Given the description of an element on the screen output the (x, y) to click on. 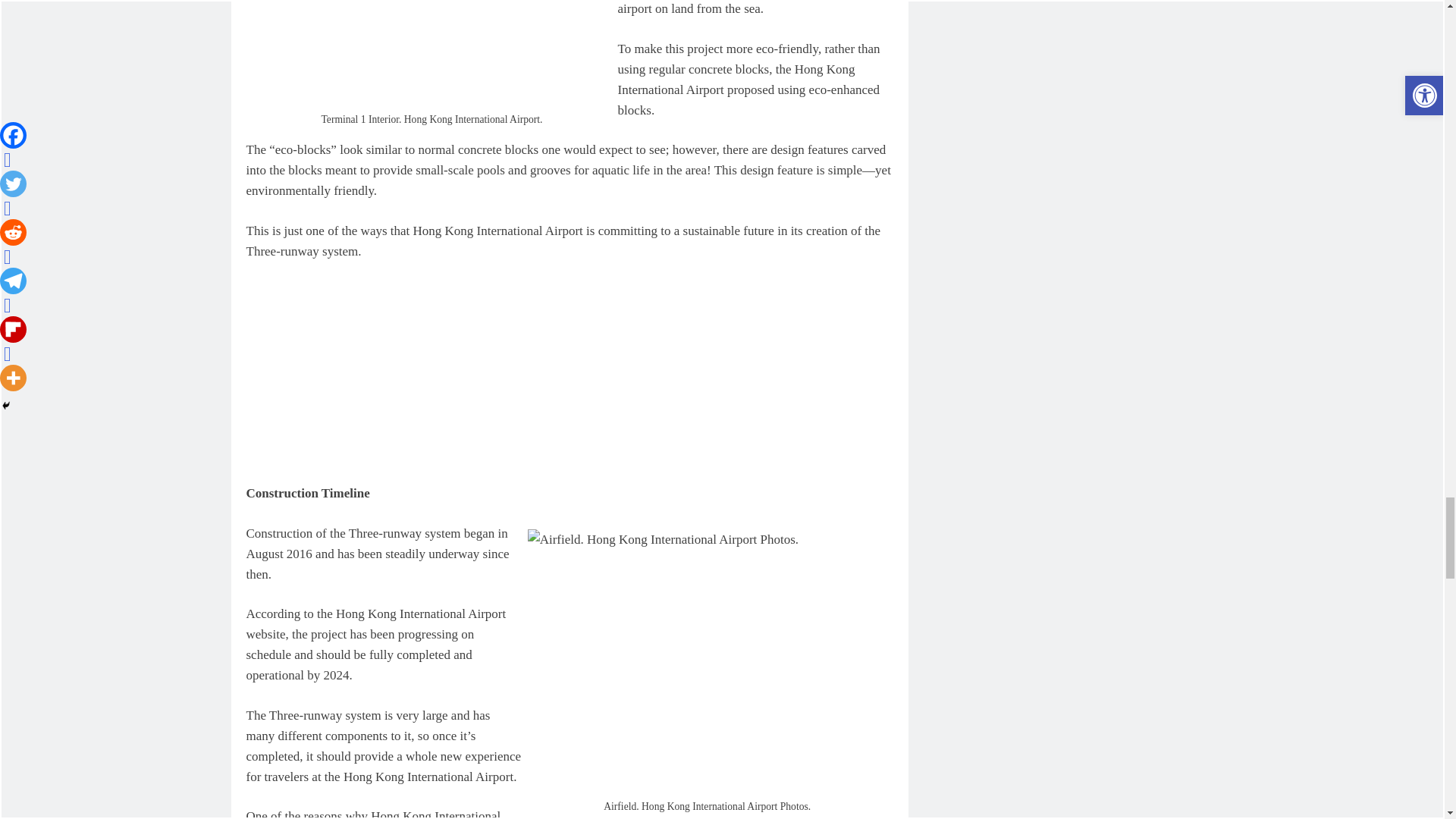
Airfield. Hong Kong International Airport Photos. (707, 657)
Terminal 1 Interior. Hong Kong International Airport Photos. (431, 52)
